Given the description of an element on the screen output the (x, y) to click on. 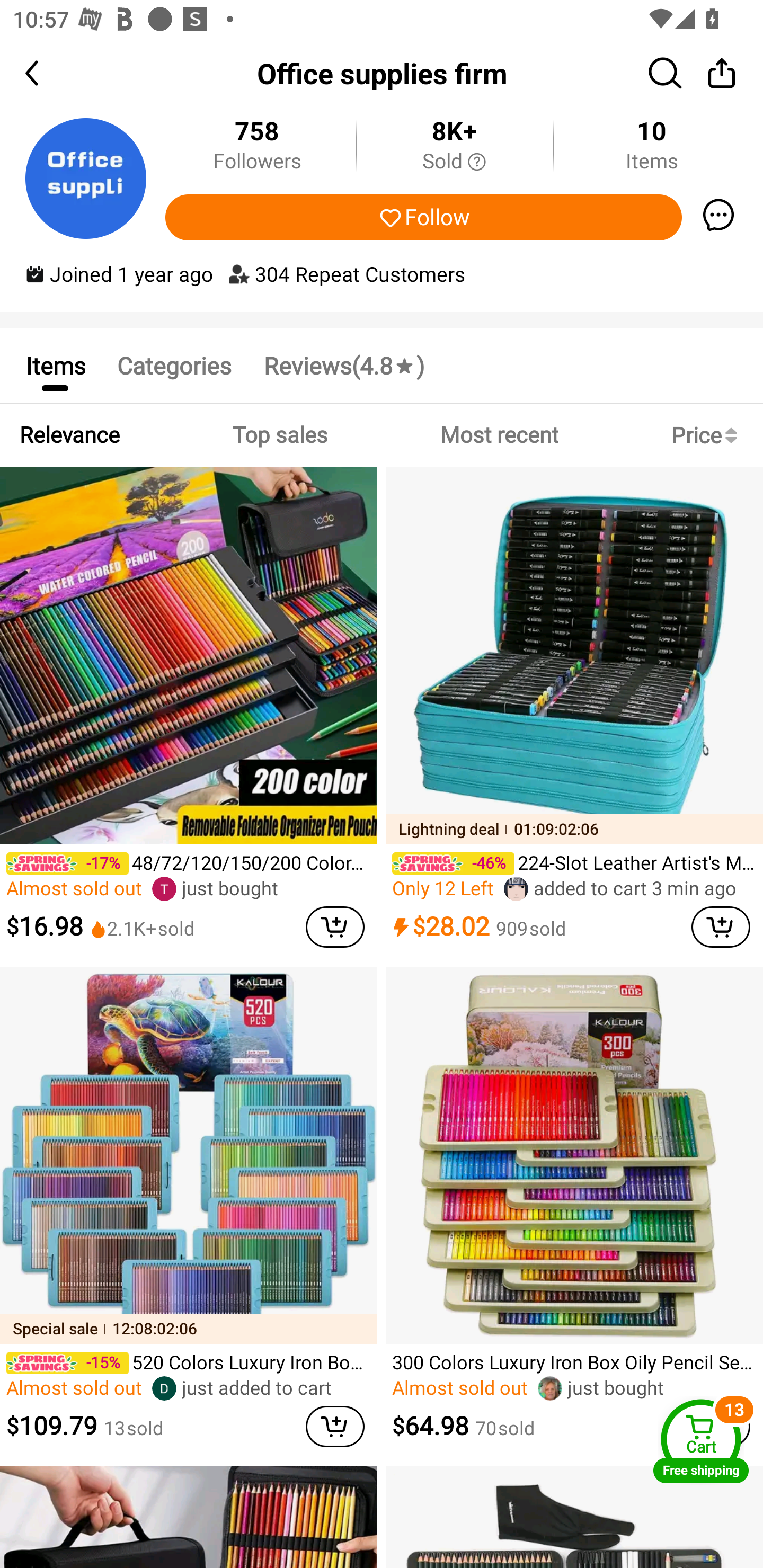
back (47, 72)
share (721, 72)
Sold (453, 161)
Items (55, 364)
Categories (174, 364)
Reviews(4.8 ) (343, 364)
Relevance (69, 434)
Top sales (279, 434)
Most recent (498, 434)
Price (707, 434)
cart delete (334, 926)
cart delete (720, 926)
Cart Free shipping Cart (701, 1440)
cart delete (334, 1426)
